Given the description of an element on the screen output the (x, y) to click on. 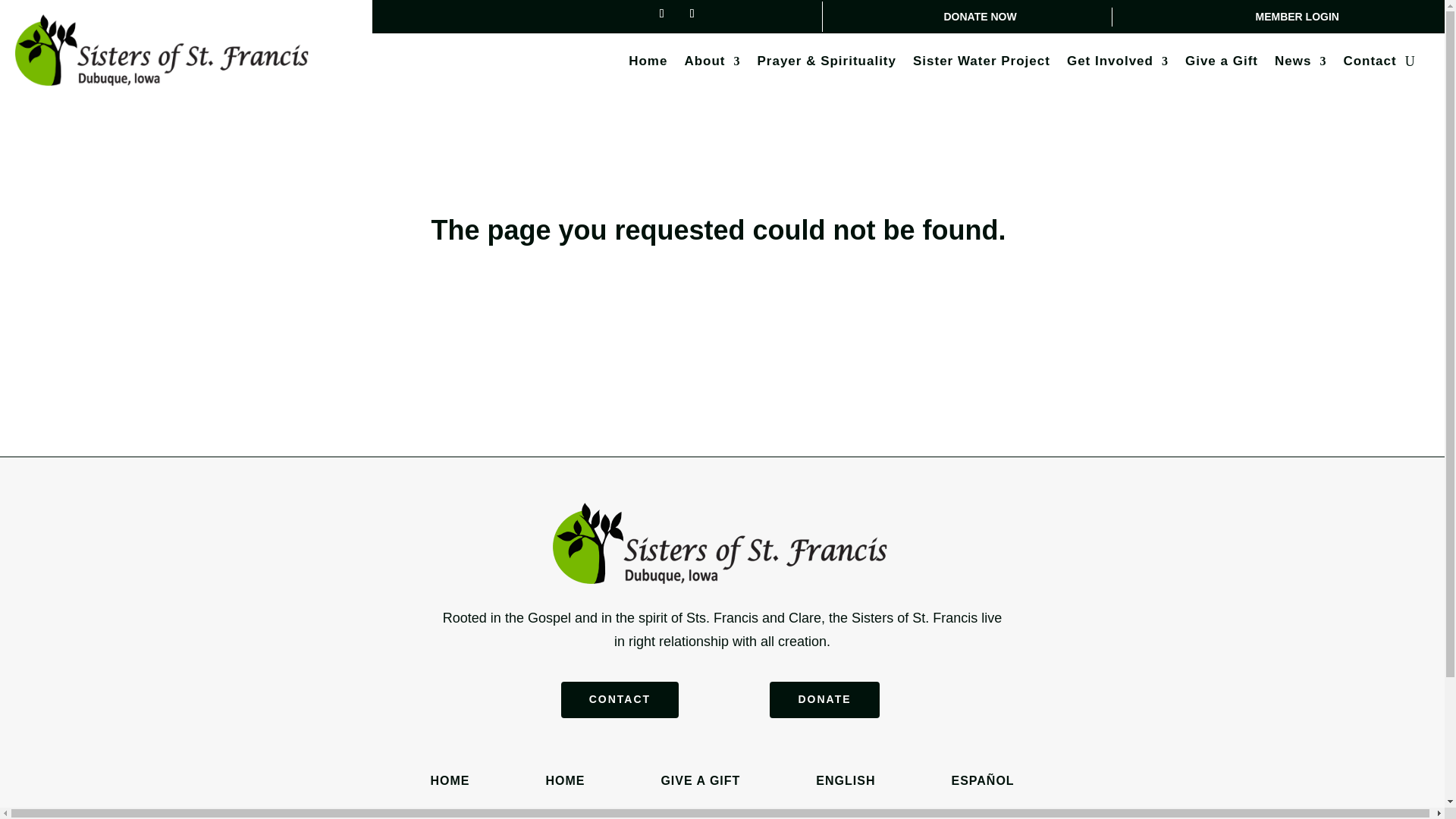
Spanish (981, 780)
About (711, 64)
GIVE A GIFT (700, 780)
English (845, 780)
Give a Gift (1221, 64)
News (1300, 64)
HOME (448, 780)
CONTACT (619, 699)
Contact (1369, 64)
Sister Water Project (980, 64)
